Given the description of an element on the screen output the (x, y) to click on. 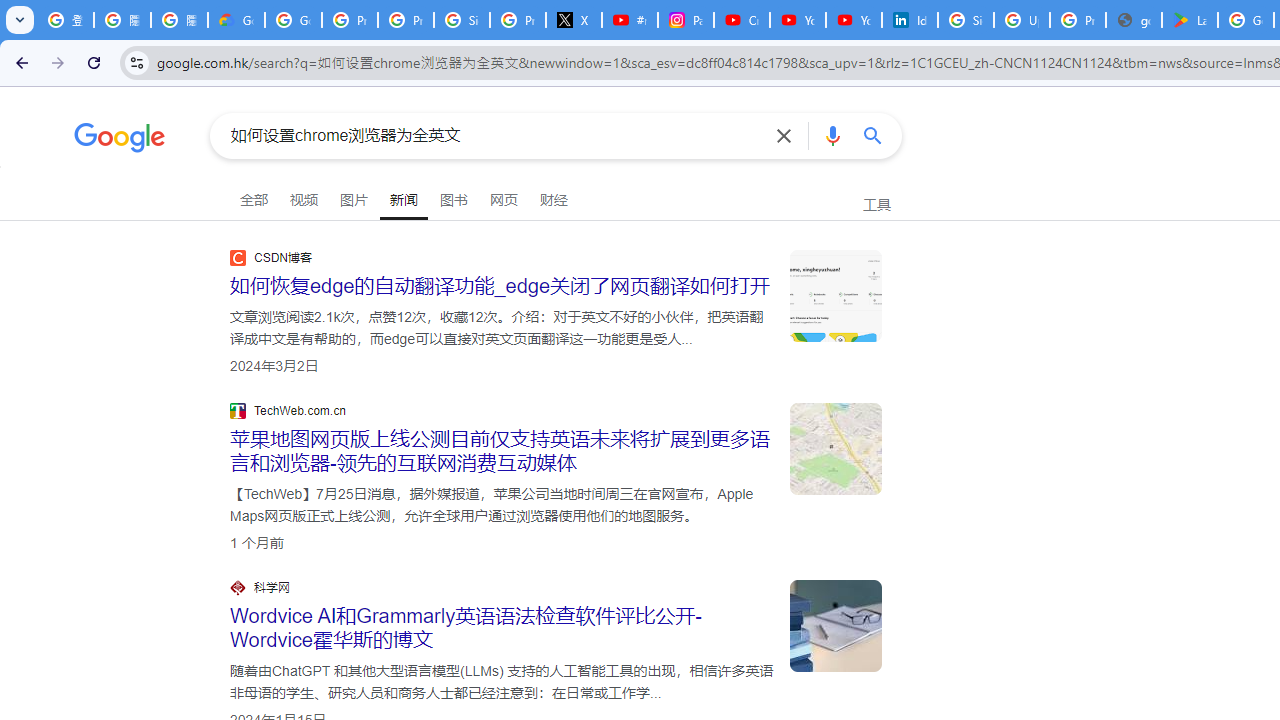
X (573, 20)
#nbabasketballhighlights - YouTube (629, 20)
Sign in - Google Accounts (461, 20)
Last Shelter: Survival - Apps on Google Play (1190, 20)
YouTube Culture & Trends - YouTube Top 10, 2021 (853, 20)
